Given the description of an element on the screen output the (x, y) to click on. 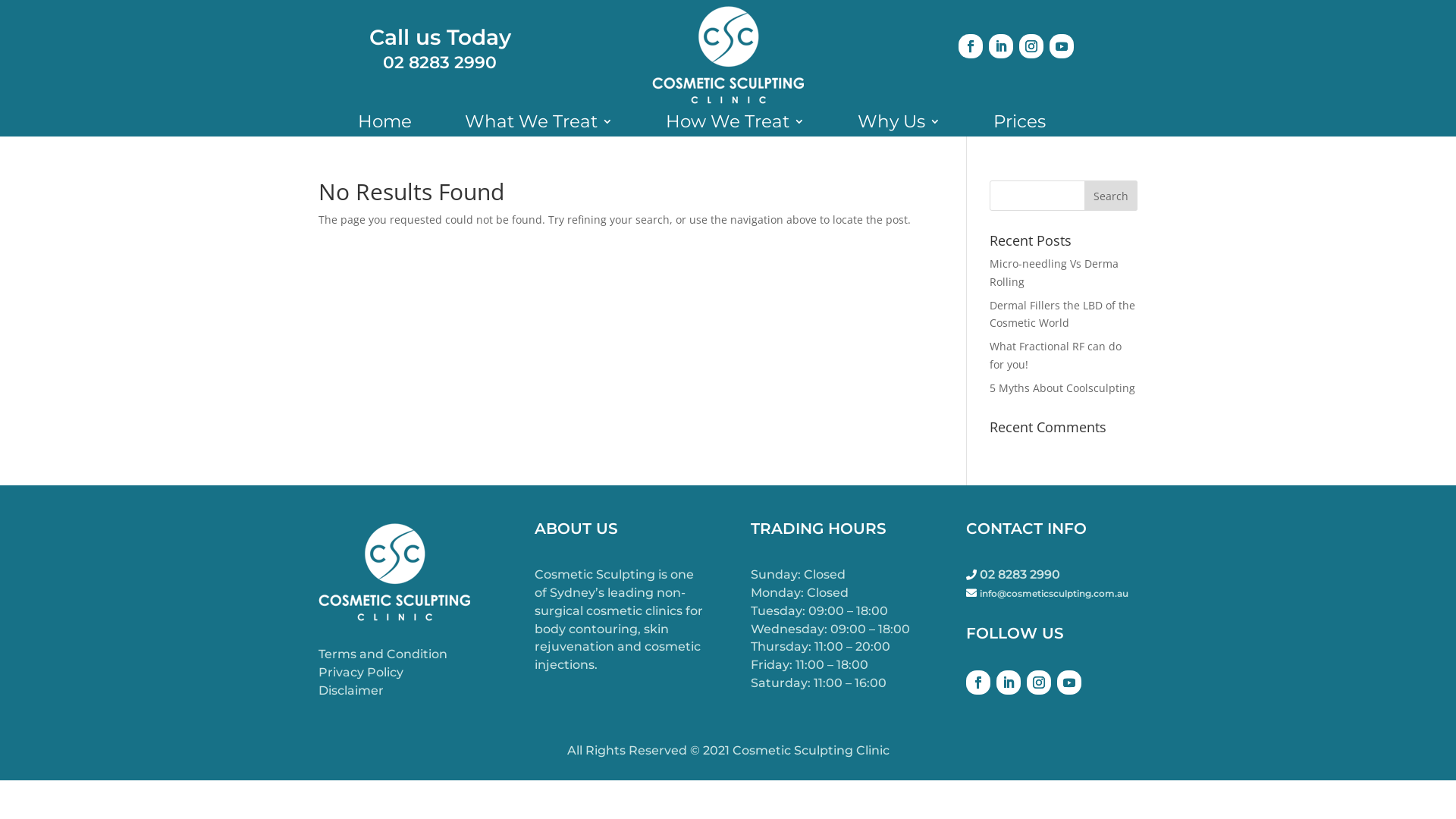
Follow on Youtube Element type: hover (1069, 682)
Follow on LinkedIn Element type: hover (1000, 46)
Dermal Fillers the LBD of the Cosmetic World Element type: text (1062, 314)
Micro-needling Vs Derma Rolling Element type: text (1053, 272)
Follow on Facebook Element type: hover (978, 682)
Follow on Instagram Element type: hover (1031, 46)
medical-logo Element type: hover (394, 571)
5 Myths About Coolsculpting Element type: text (1062, 387)
site-icon Element type: hover (727, 54)
What Fractional RF can do for you! Element type: text (1055, 354)
info@cosmeticsculpting.com.au Element type: text (1053, 593)
Search Element type: text (1110, 195)
Follow on LinkedIn Element type: hover (1008, 682)
Follow on Instagram Element type: hover (1038, 682)
02 8283 2990 Element type: text (439, 62)
Disclaimer Element type: text (350, 690)
Terms and Condition Element type: text (382, 653)
02 8283 2990 Element type: text (1019, 574)
Follow on Youtube Element type: hover (1061, 46)
How We Treat Element type: text (734, 124)
Home Element type: text (384, 124)
Privacy Policy Element type: text (360, 672)
Follow on Facebook Element type: hover (970, 46)
Why Us Element type: text (897, 124)
What We Treat Element type: text (537, 124)
Prices Element type: text (1019, 124)
